Given the description of an element on the screen output the (x, y) to click on. 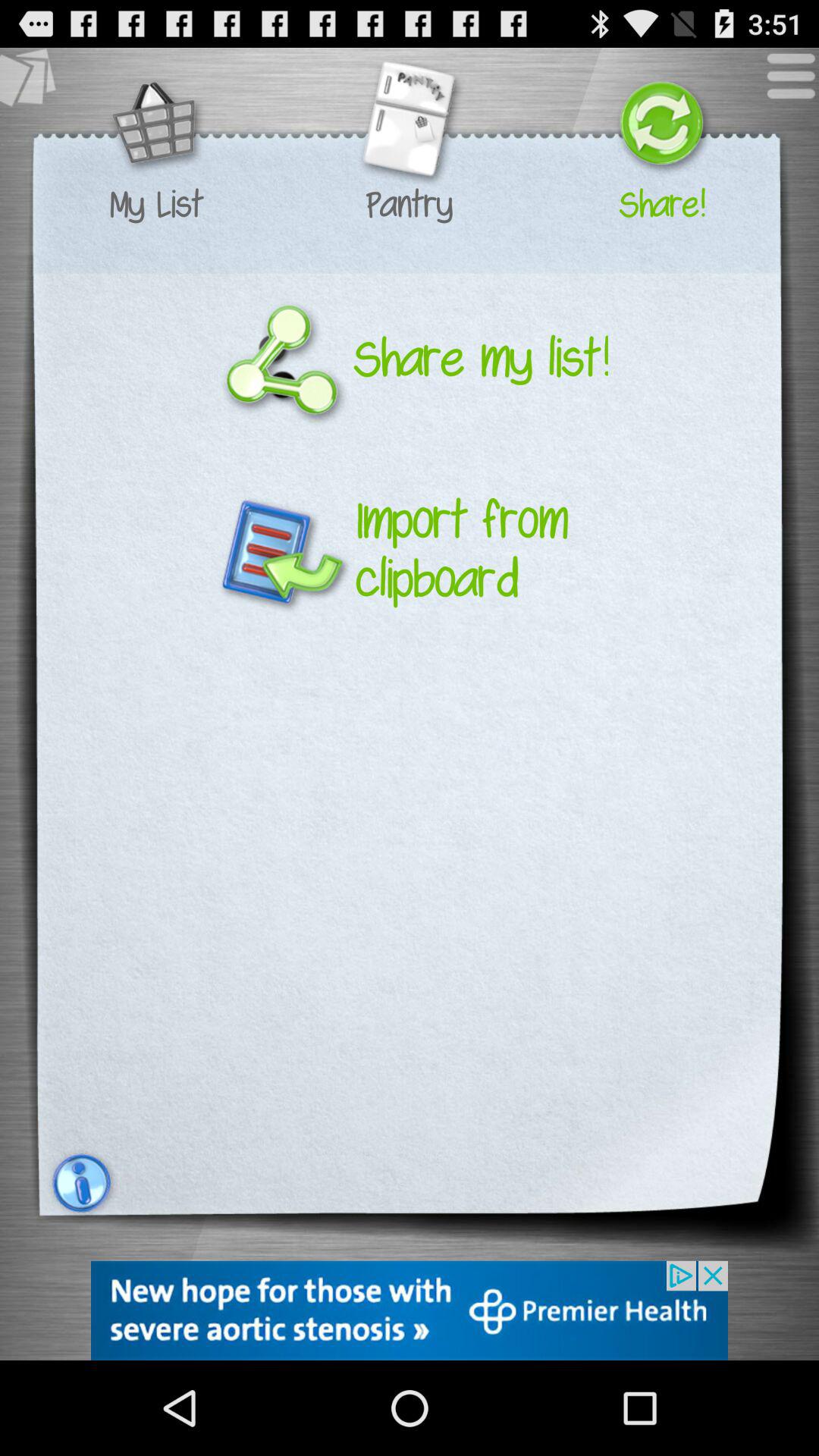
see other lists (35, 83)
